Given the description of an element on the screen output the (x, y) to click on. 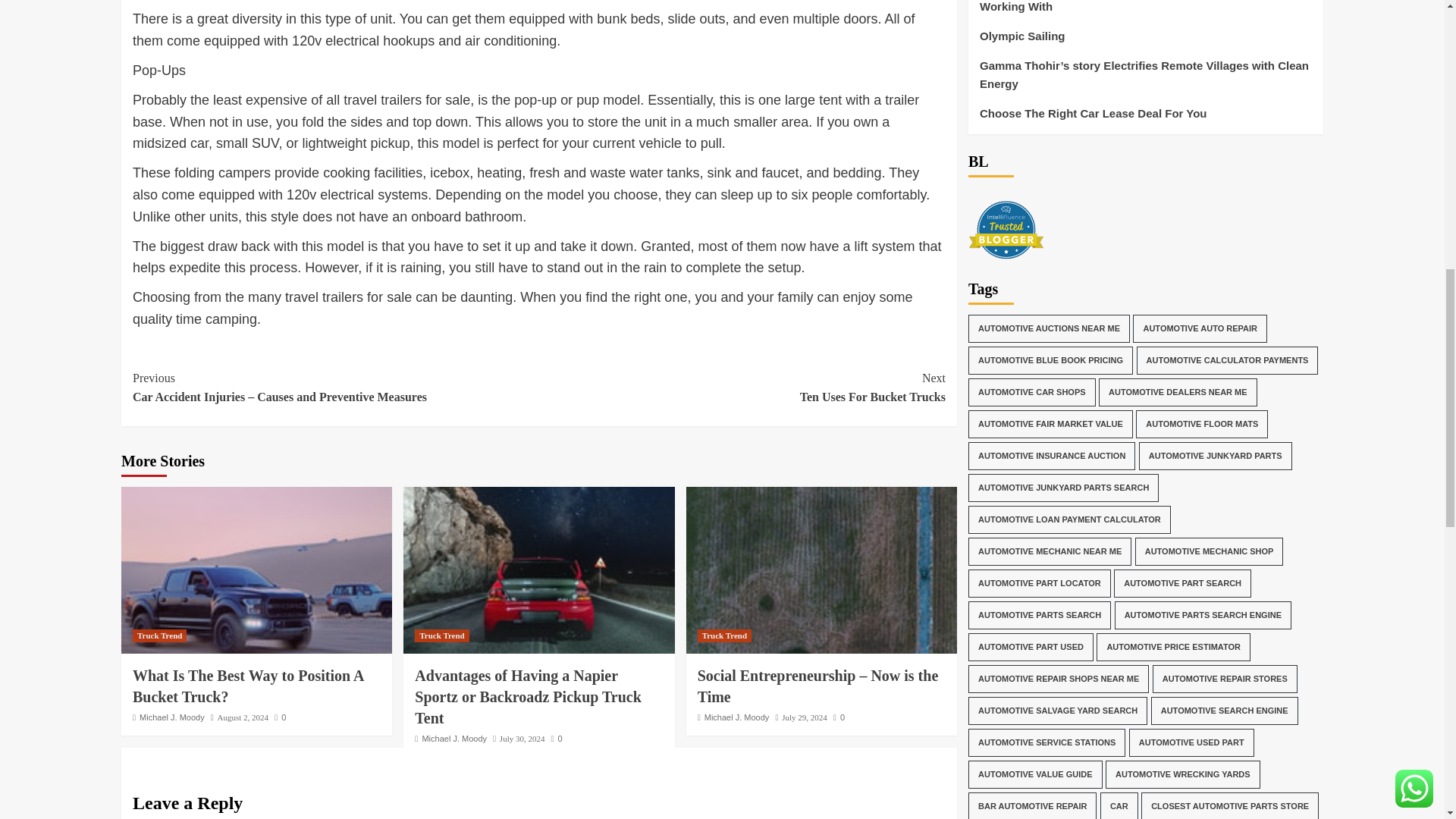
0 (280, 716)
What Is The Best Way to Position A Bucket Truck? (255, 569)
Michael J. Moody (741, 387)
Truck Trend (172, 716)
0 (724, 635)
Michael J. Moody (556, 737)
July 30, 2024 (454, 737)
